Given the description of an element on the screen output the (x, y) to click on. 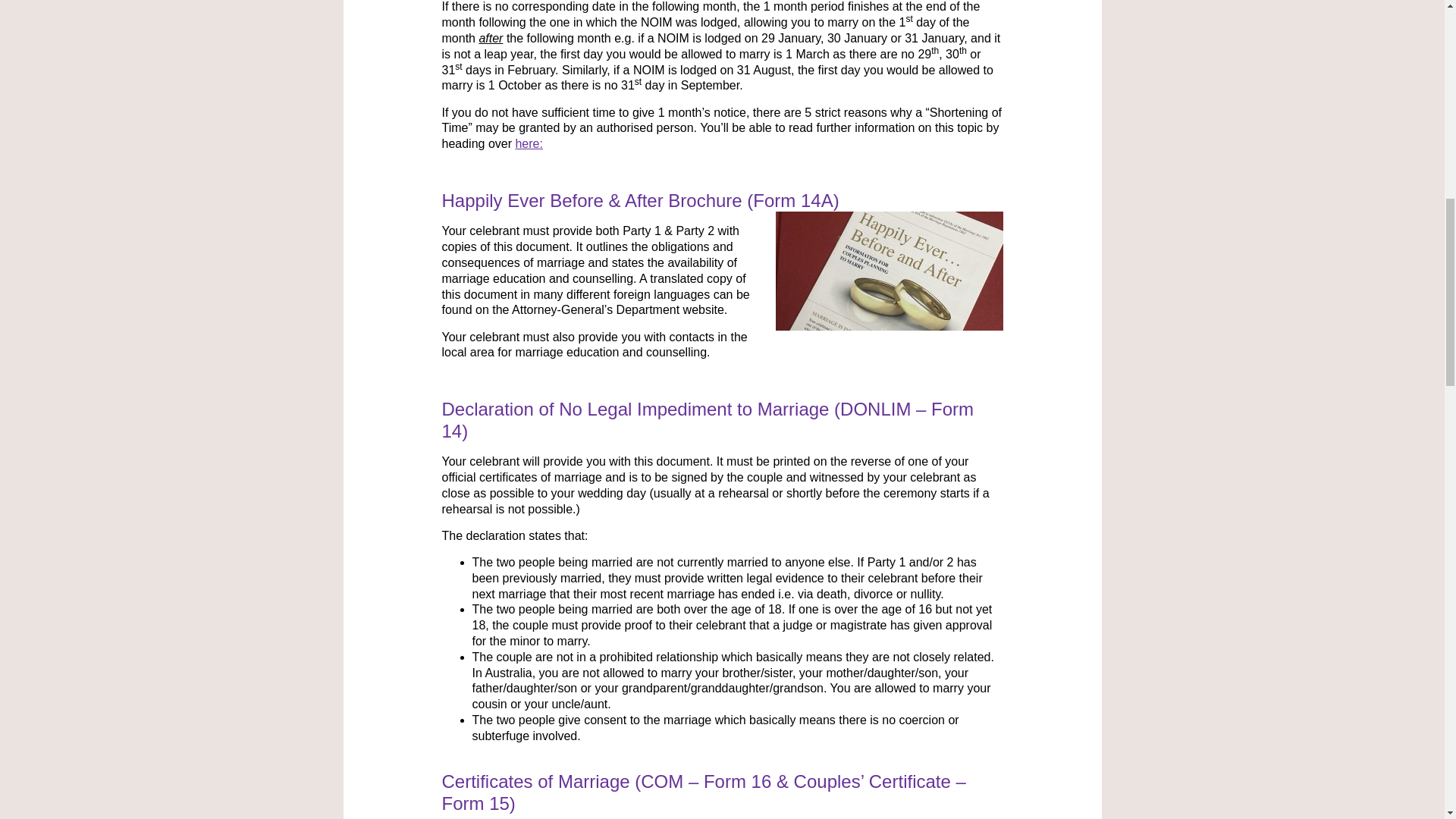
here: (528, 143)
